Given the description of an element on the screen output the (x, y) to click on. 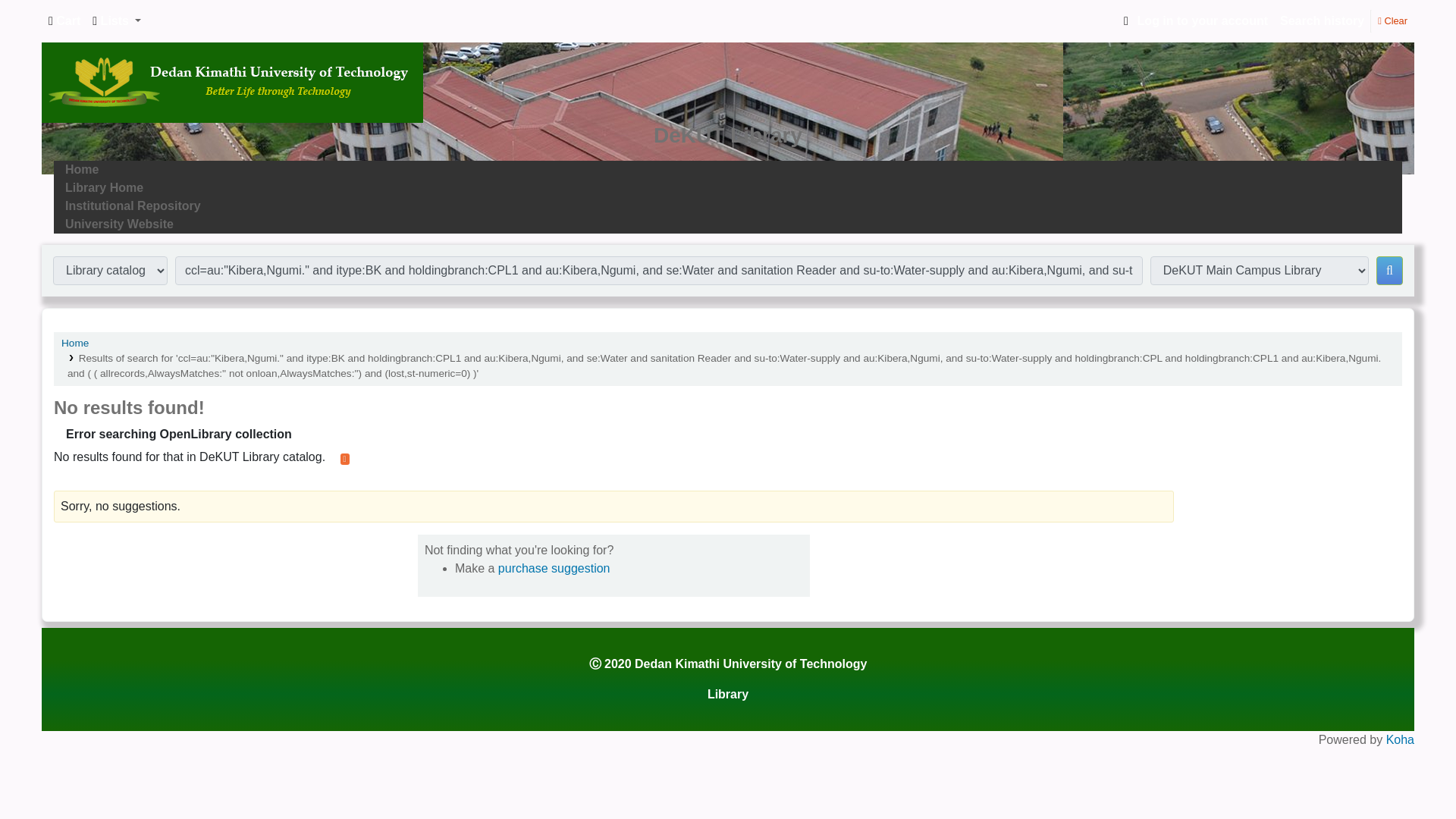
View your search history (1322, 20)
Search (1389, 270)
Lists (116, 20)
Log in to your account (1193, 20)
Cart (63, 20)
Koha (1399, 739)
Subscribe to this search (344, 459)
purchase suggestion (553, 567)
Clear (1392, 20)
Delete your search history (1392, 20)
Home (74, 342)
Show lists (116, 20)
Library Home (103, 187)
Home (82, 169)
Search history (1322, 20)
